Given the description of an element on the screen output the (x, y) to click on. 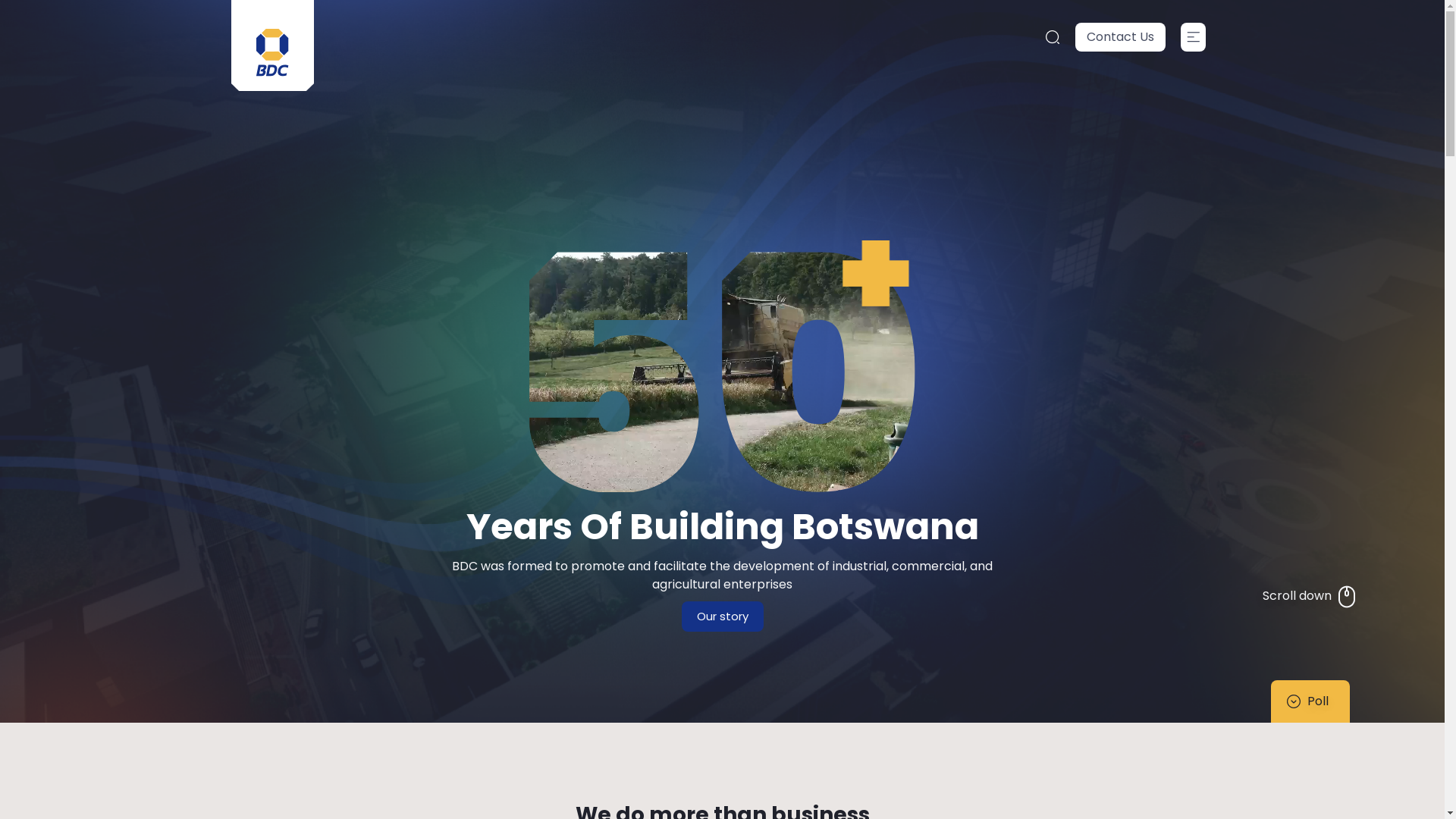
. Element type: text (1192, 36)
Contact Us Element type: text (1120, 36)
Scroll down Element type: text (1310, 595)
Our story Element type: text (721, 615)
. Element type: text (1052, 36)
